Given the description of an element on the screen output the (x, y) to click on. 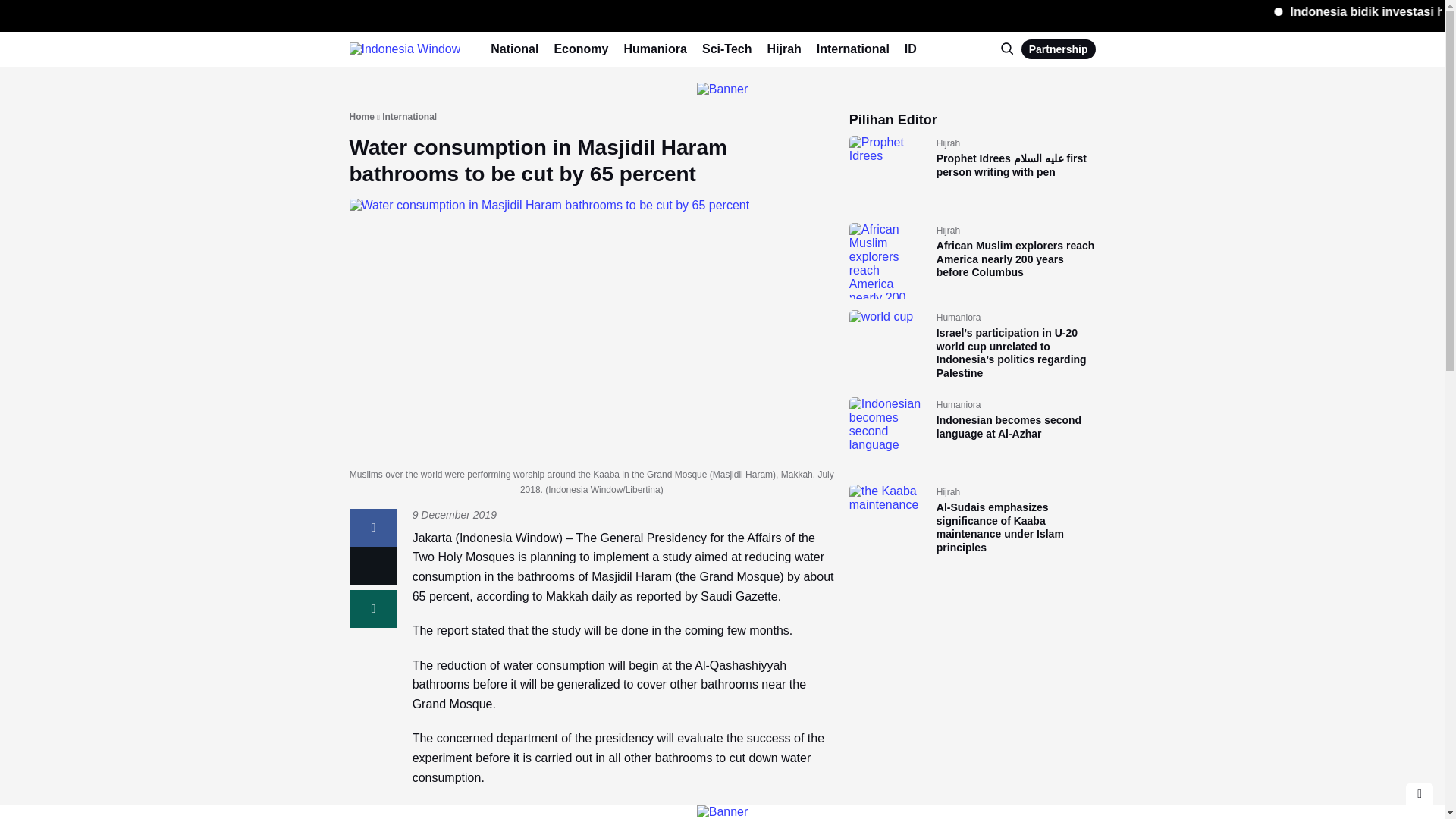
International (852, 48)
Economy (580, 48)
Share on Facebook (373, 527)
Sci-Tech (726, 48)
Home (361, 117)
Share on Twitter (373, 565)
International (408, 117)
Hijrah (783, 48)
Share on Whatsapp (373, 608)
Humaniora (655, 48)
National (514, 48)
Partnership (1059, 48)
